Given the description of an element on the screen output the (x, y) to click on. 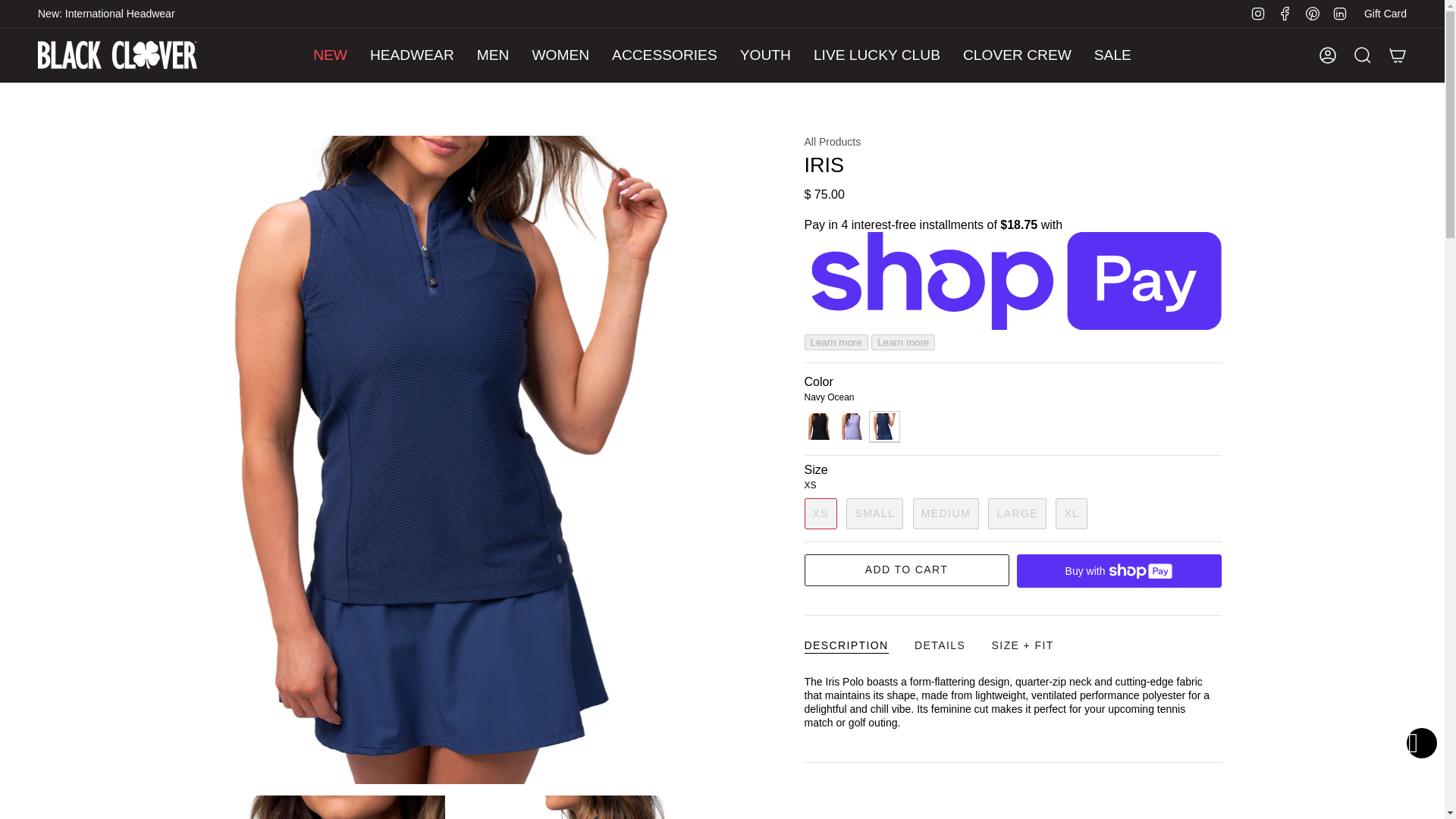
Black Clover on Instagram (1257, 11)
Gift Card (1385, 13)
HEADWEAR (411, 55)
Black Clover on Facebook (1285, 11)
Cart (1397, 54)
Black Clover on Linkedin (1340, 11)
Pinterest (1312, 11)
NEW (329, 55)
Linkedin (1340, 11)
My Account (1327, 54)
Facebook (1285, 11)
Black Clover on Pinterest (1312, 11)
New: International Headwear (105, 14)
Search (1362, 54)
Instagram (1257, 11)
